Given the description of an element on the screen output the (x, y) to click on. 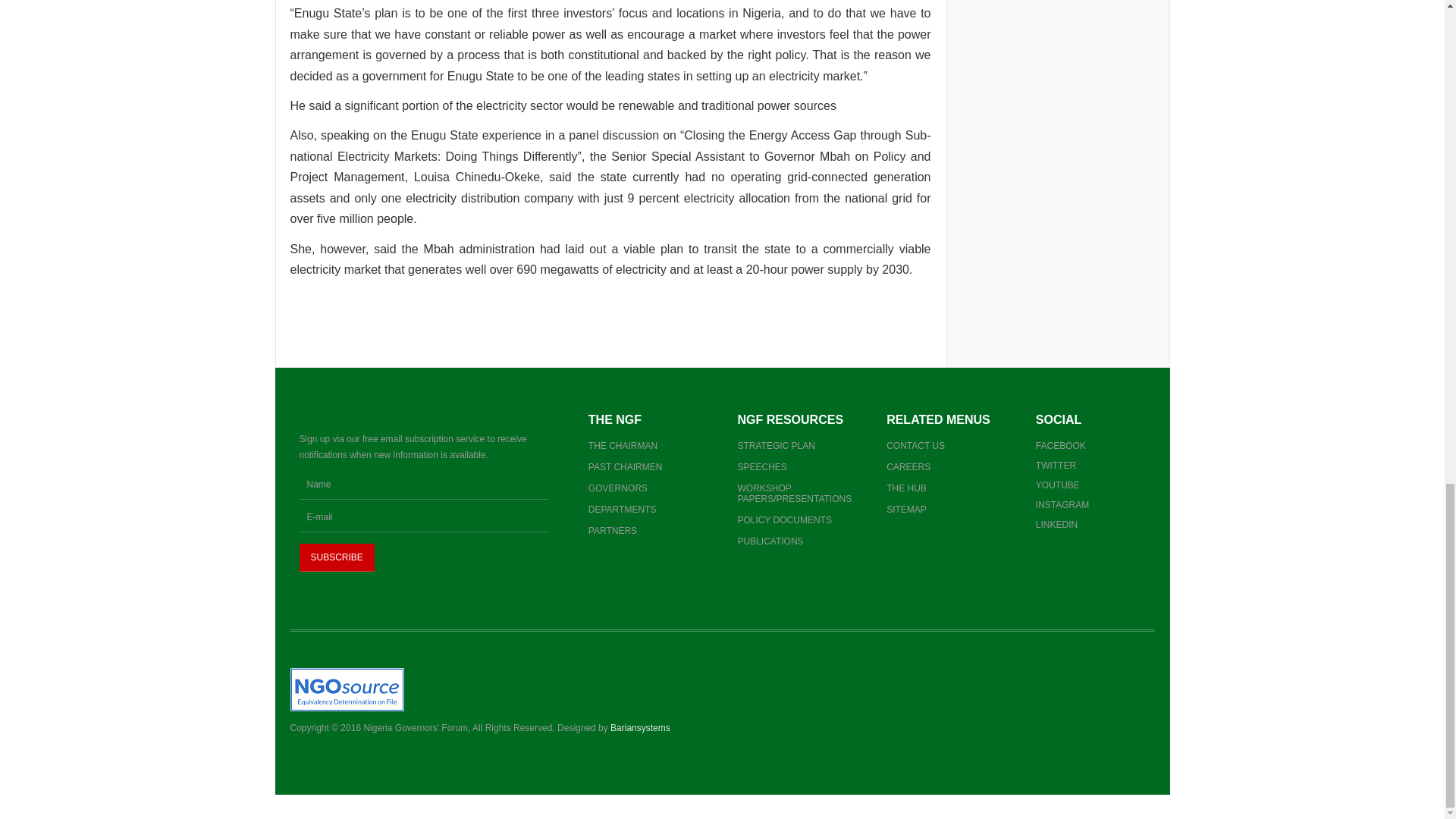
Name (423, 484)
Name (423, 484)
E-mail (423, 517)
Subscribe (336, 557)
E-mail (423, 517)
NGOsource Equivalency Determination on File Badge (346, 688)
